Given the description of an element on the screen output the (x, y) to click on. 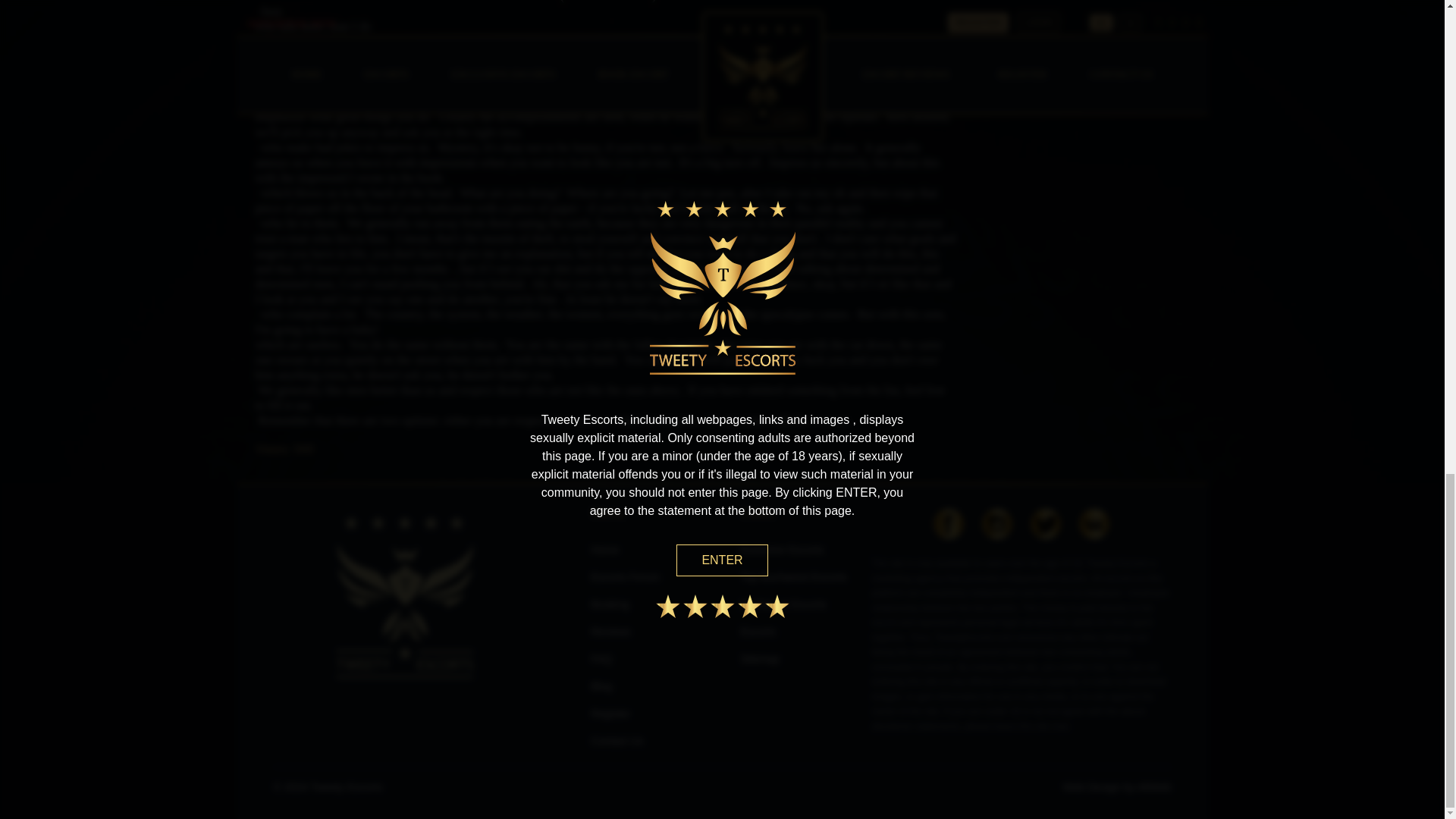
Reviews (610, 631)
Escorts (757, 631)
Booking (609, 604)
Top Bucharest Escorts (792, 576)
Escorts Forum (625, 576)
Register (610, 713)
Contact Us (617, 740)
Home (604, 549)
Bucharest Escorts (783, 604)
Exclusive Escorts (781, 549)
